Given the description of an element on the screen output the (x, y) to click on. 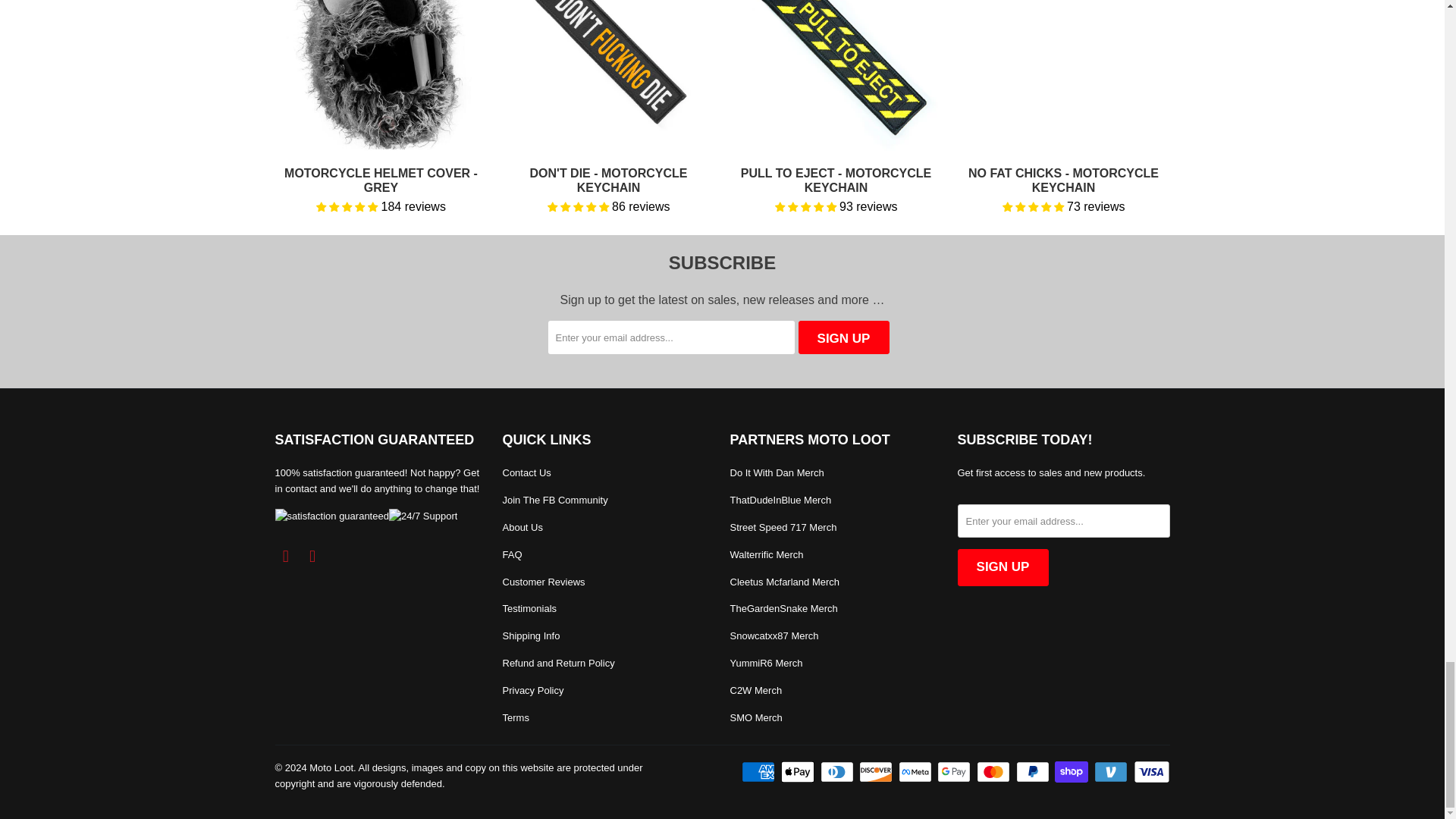
Sign Up (1002, 566)
Apple Pay (798, 771)
PayPal (1034, 771)
Venmo (1112, 771)
Meta Pay (916, 771)
Mastercard (994, 771)
Visa (1150, 771)
American Express (759, 771)
Diners Club (839, 771)
Shop Pay (1072, 771)
Discover (877, 771)
Sign Up (842, 337)
Google Pay (955, 771)
